Given the description of an element on the screen output the (x, y) to click on. 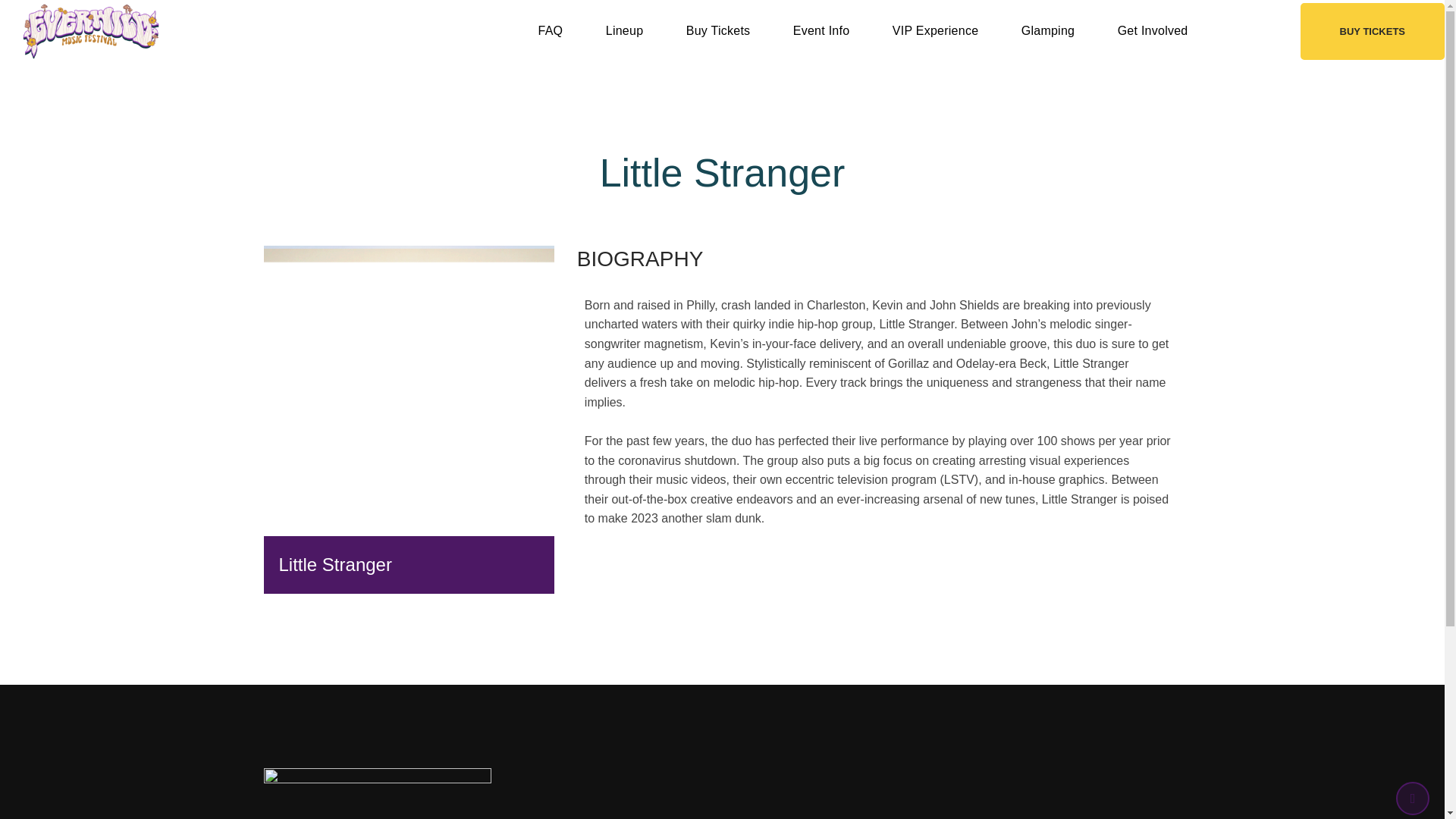
Lineup (624, 31)
Get Involved (1152, 31)
Glamping (1047, 31)
VIP Experience (935, 31)
Buy Tickets (718, 31)
FAQ (550, 31)
Event Info (821, 31)
